Given the description of an element on the screen output the (x, y) to click on. 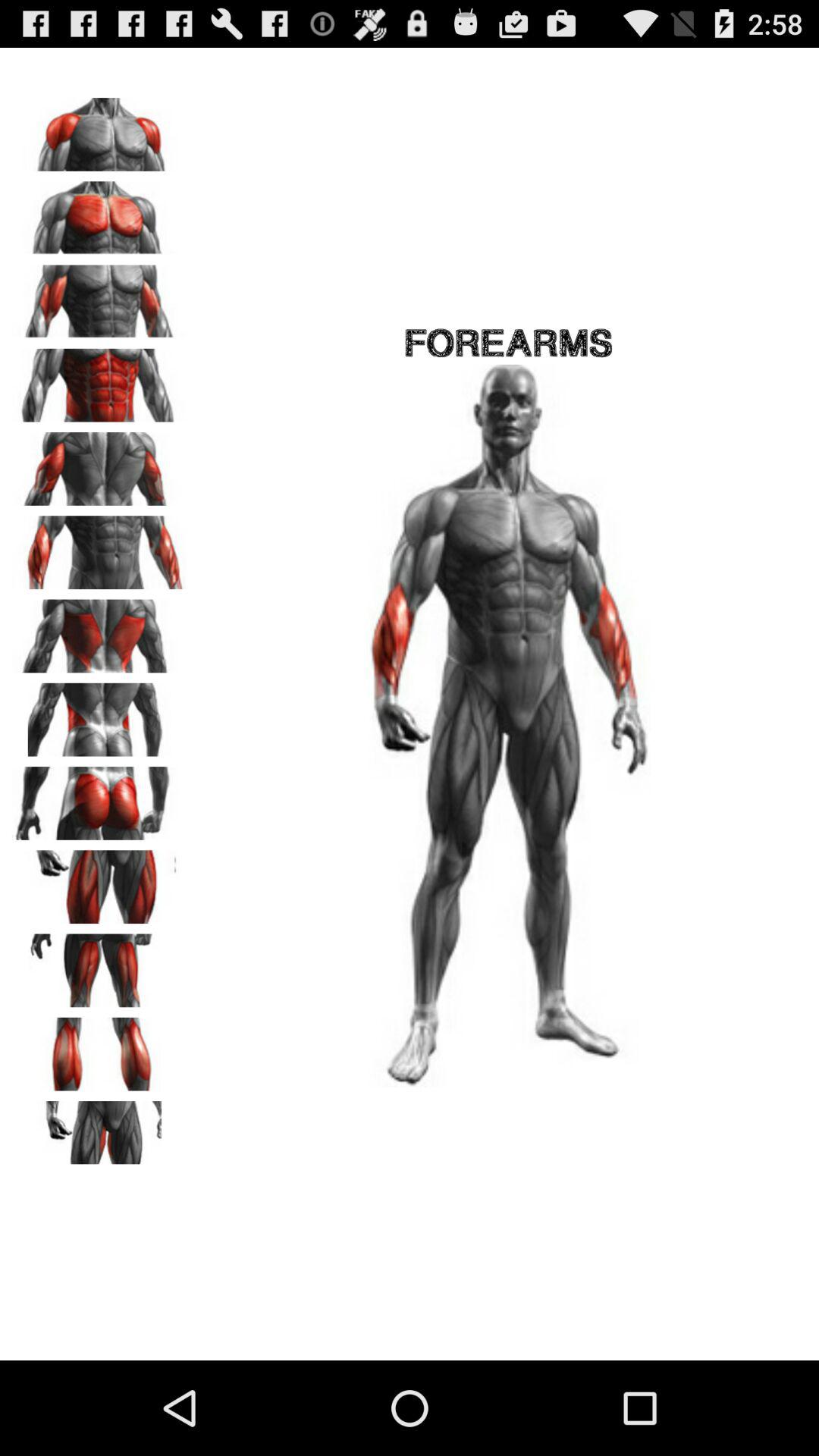
view gluteus muscles (99, 798)
